Given the description of an element on the screen output the (x, y) to click on. 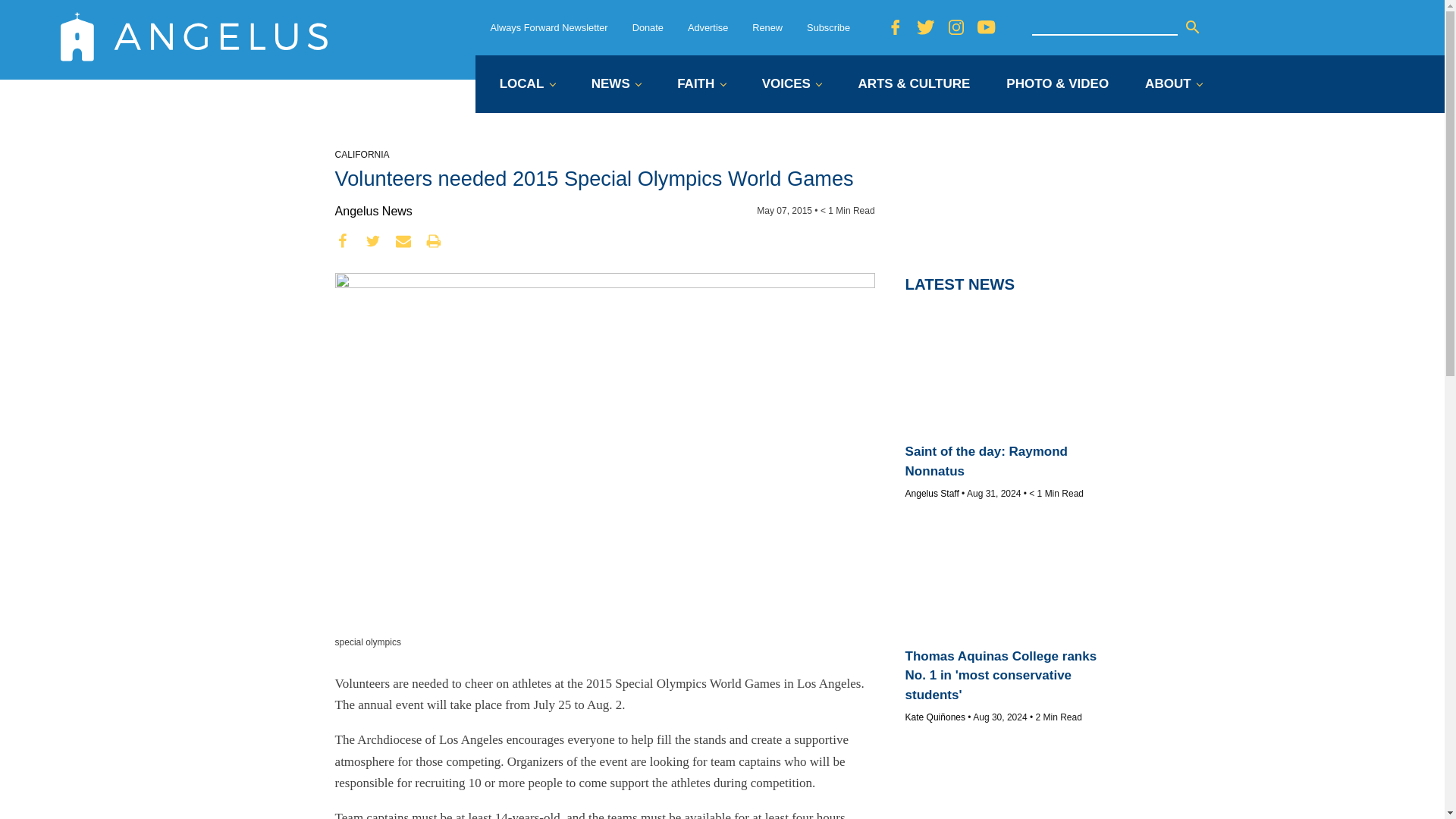
envelope (403, 240)
Donate (647, 27)
ABOUT (1173, 84)
Renew (767, 27)
facebook (342, 240)
LOCAL (526, 84)
Posts by Angelus Staff (932, 493)
FAITH (701, 84)
NEWS (615, 84)
Advertise (707, 27)
